Given the description of an element on the screen output the (x, y) to click on. 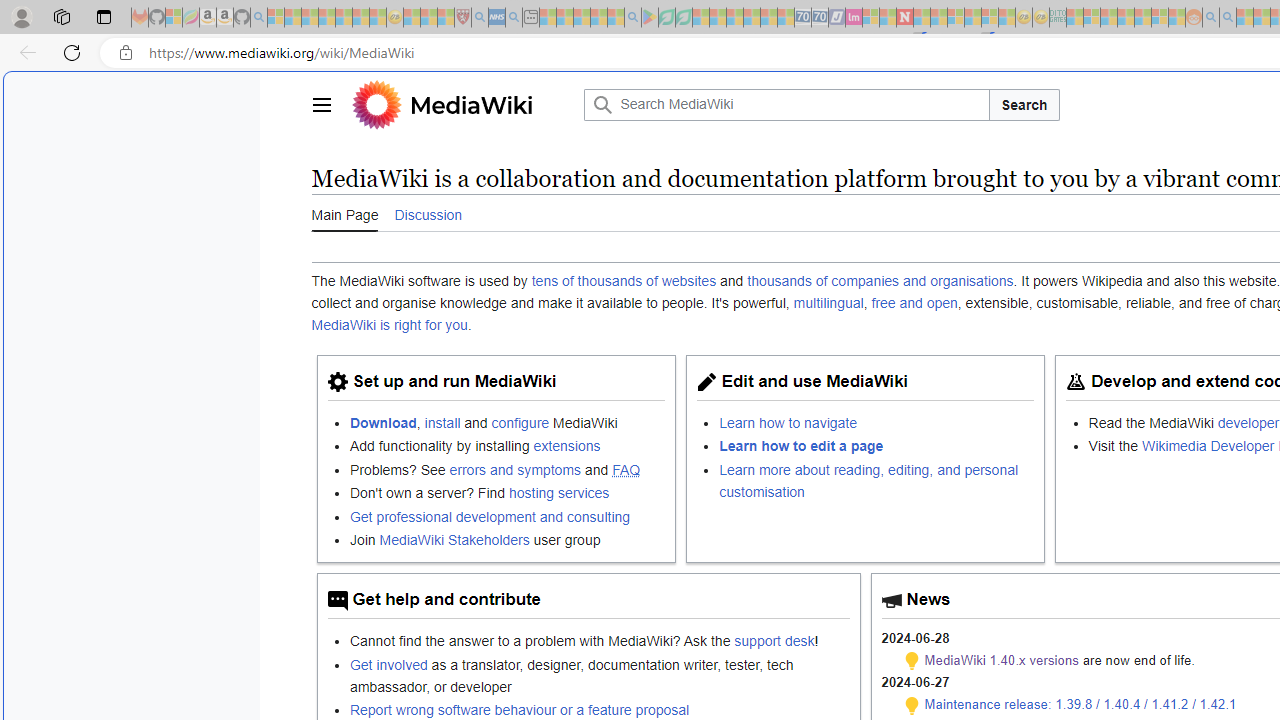
Main menu (320, 104)
MediaWiki (461, 104)
Get involved (388, 664)
Report wrong software behaviour or a feature proposal (519, 709)
Main Page (344, 213)
Problems? See errors and symptoms and FAQ (507, 468)
multilingual (828, 303)
Download (383, 422)
install (441, 422)
